Given the description of an element on the screen output the (x, y) to click on. 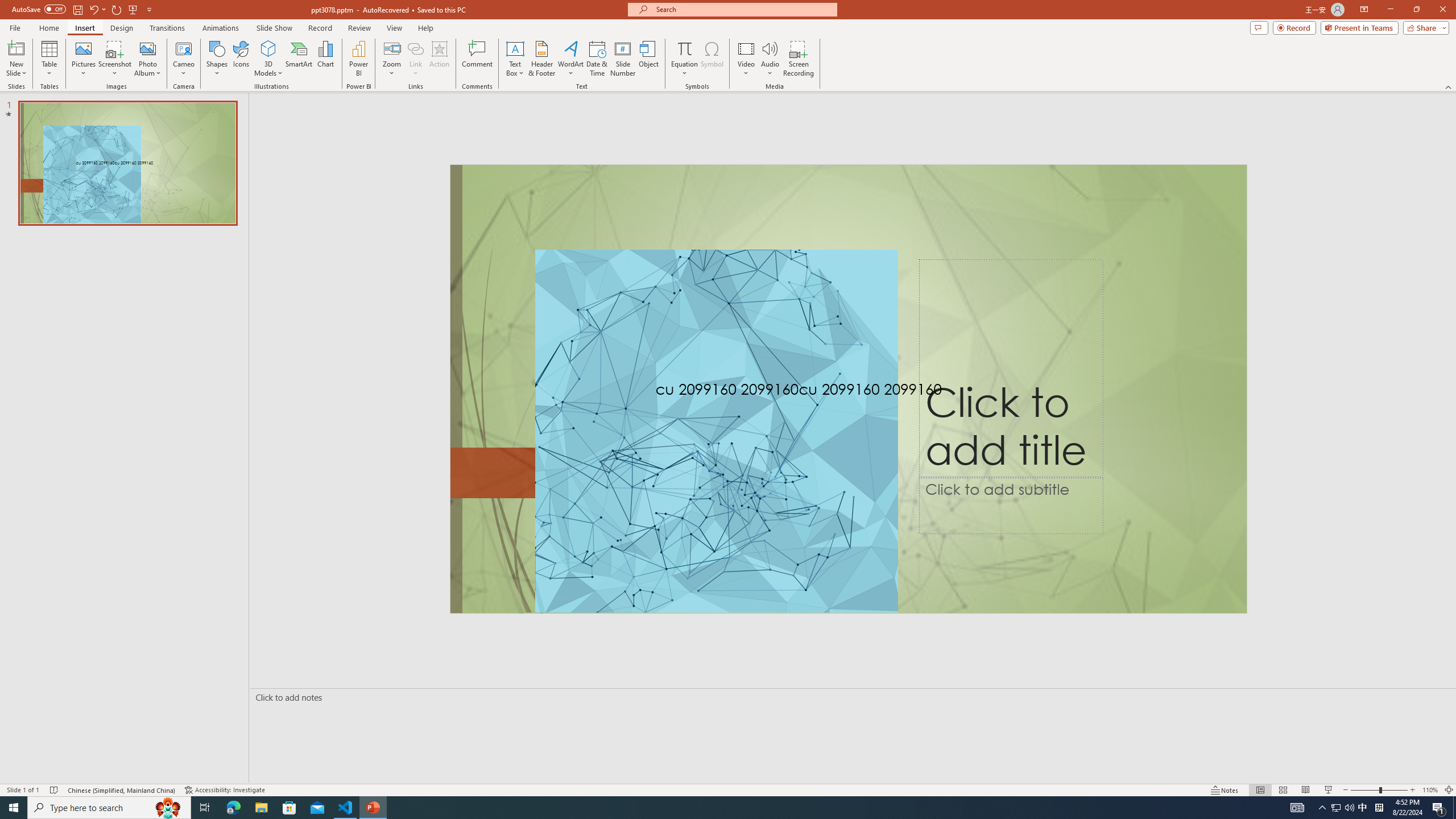
Video (745, 58)
Equation (683, 48)
Screen Recording... (798, 58)
3D Models (268, 58)
Photo Album... (147, 58)
